Given the description of an element on the screen output the (x, y) to click on. 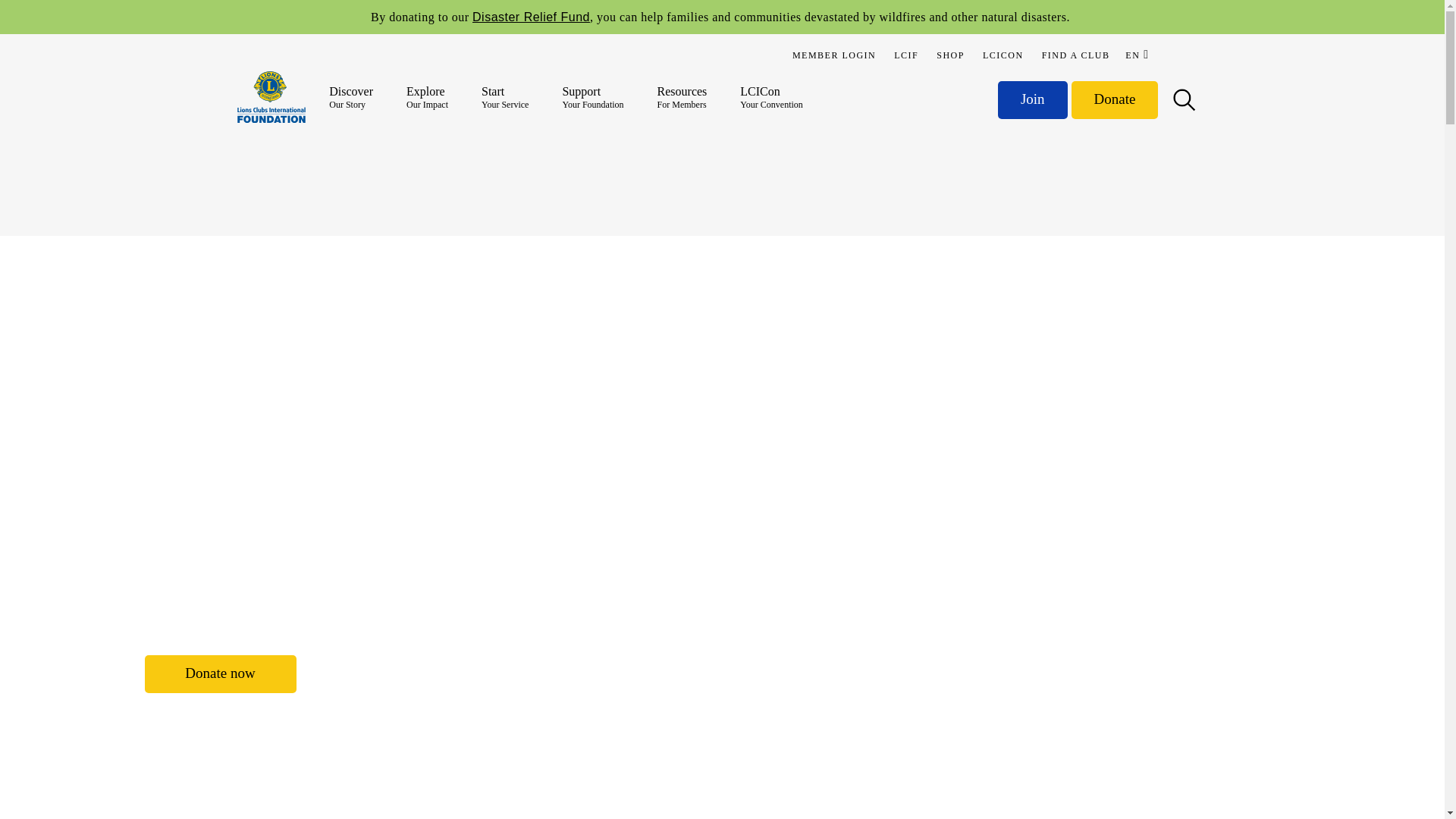
Disaster Relief Fund (530, 16)
Search (75, 18)
